Given the description of an element on the screen output the (x, y) to click on. 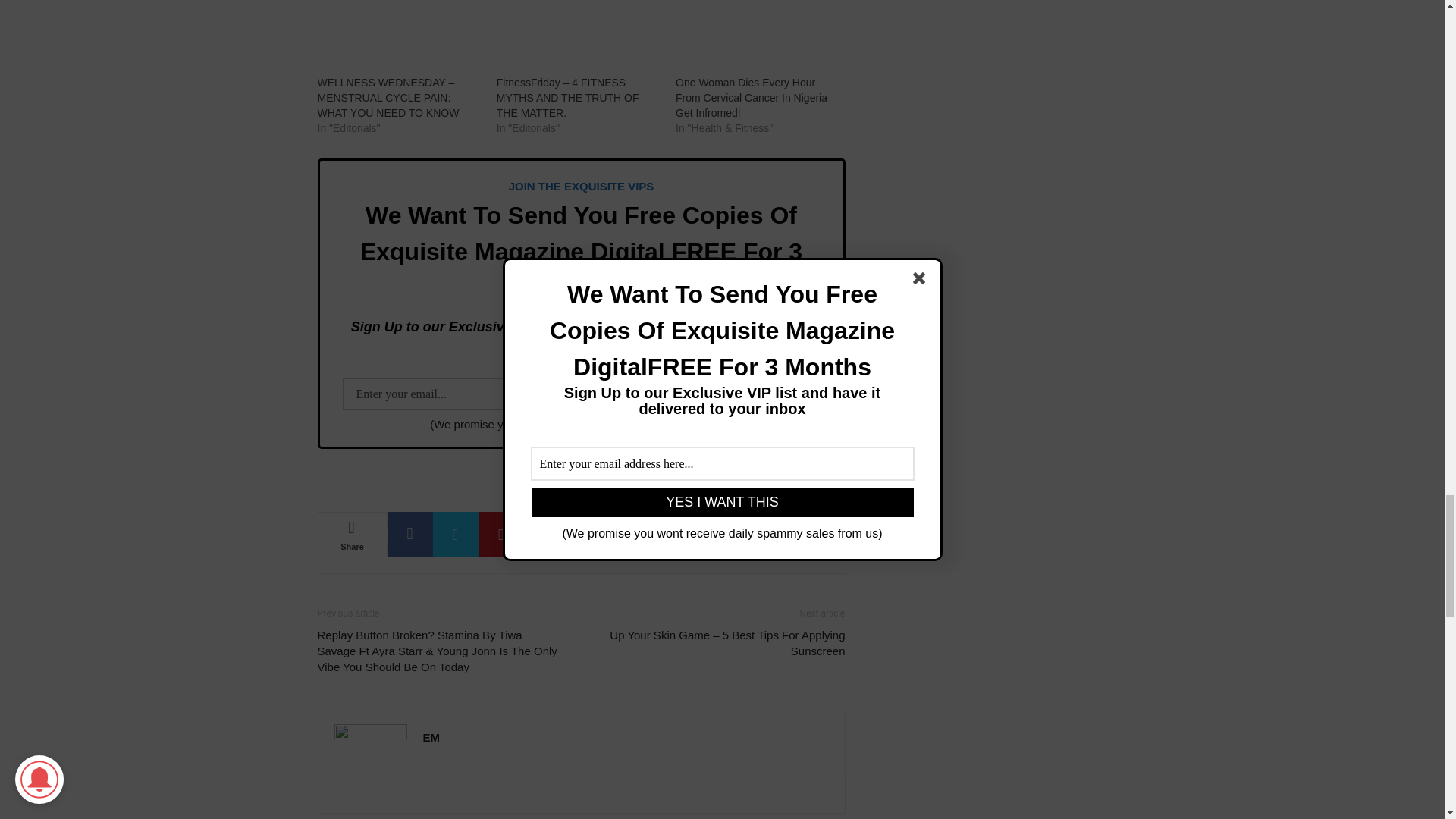
YES I WANT IT (741, 394)
